Given the description of an element on the screen output the (x, y) to click on. 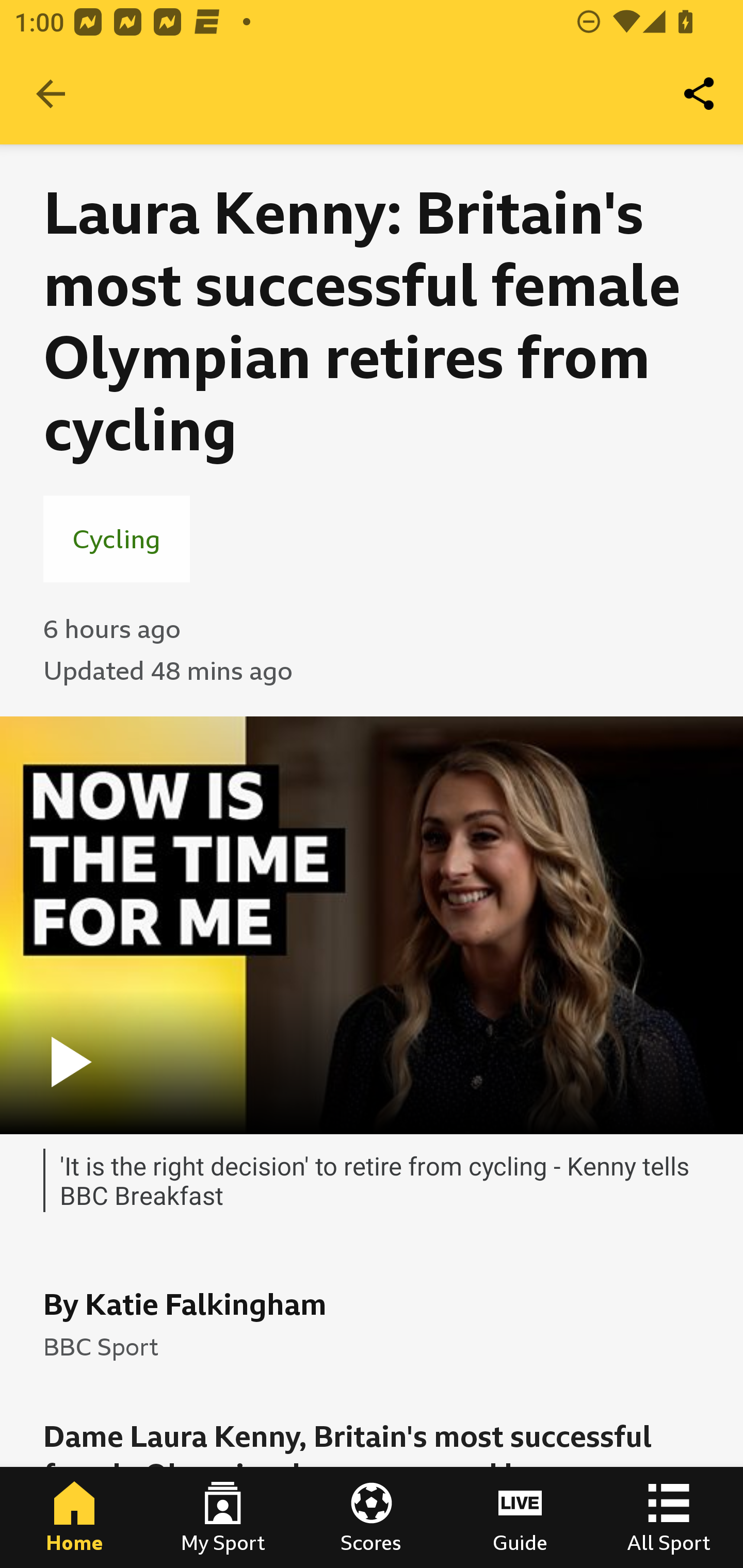
Navigate up (50, 93)
Share (699, 93)
Cycling (116, 538)
play fullscreen (371, 924)
My Sport (222, 1517)
Scores (371, 1517)
Guide (519, 1517)
All Sport (668, 1517)
